Given the description of an element on the screen output the (x, y) to click on. 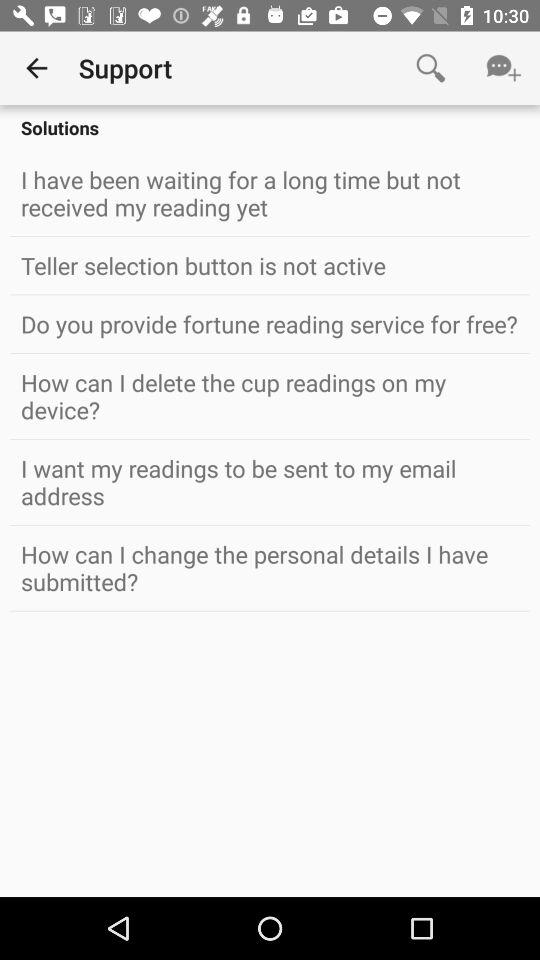
launch the app next to the support (430, 67)
